Given the description of an element on the screen output the (x, y) to click on. 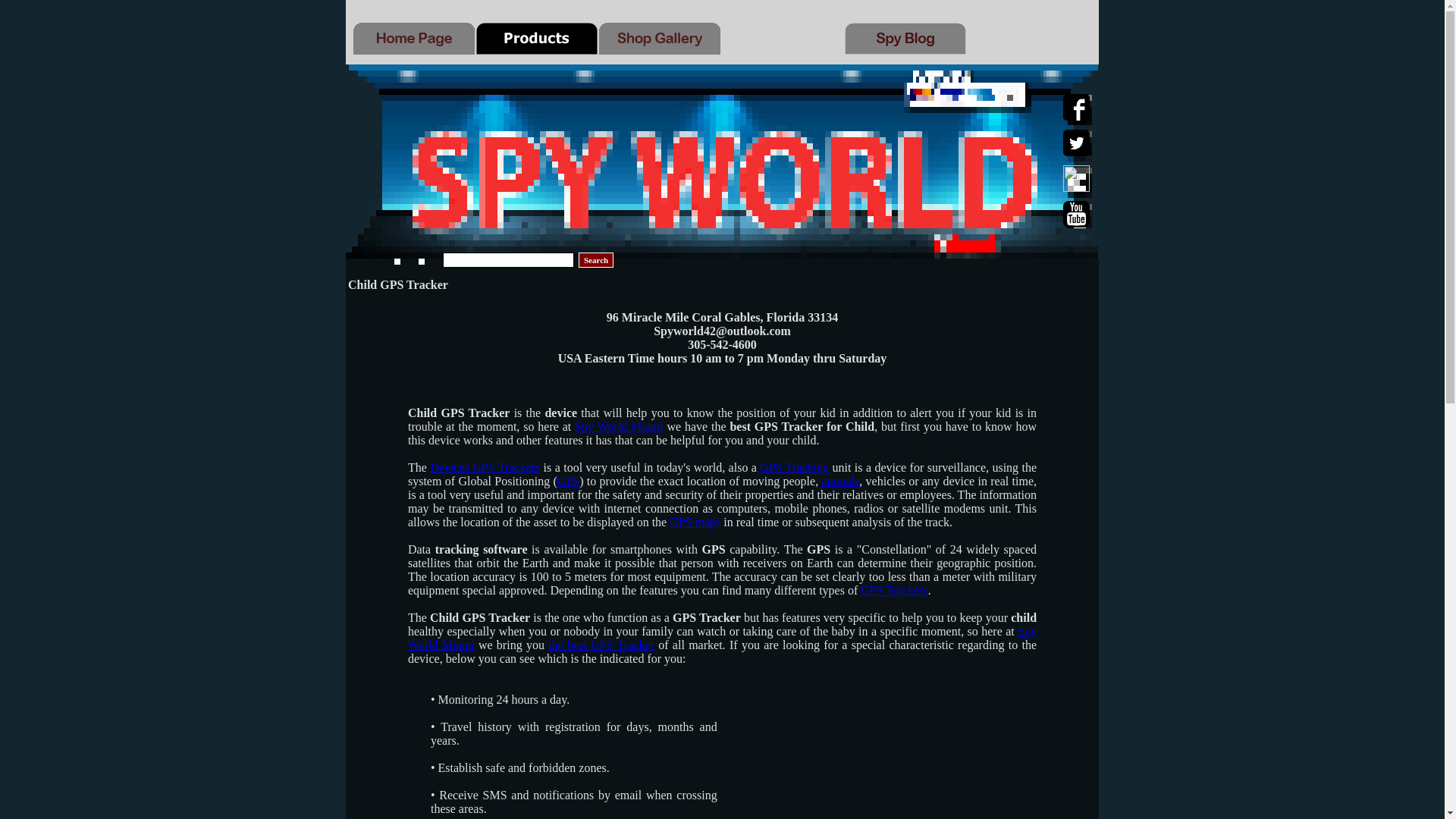
GPS maps (694, 521)
What is a GPS Tracker? (794, 467)
GPS Trackers (893, 590)
What is a GPS Tracker? (893, 590)
the best GPS Tracker (600, 644)
Spy World Miami (619, 426)
GPS (568, 481)
GPS Tracking (794, 467)
Spy World Miami (721, 637)
Devices GPS Trackers (484, 467)
